Given the description of an element on the screen output the (x, y) to click on. 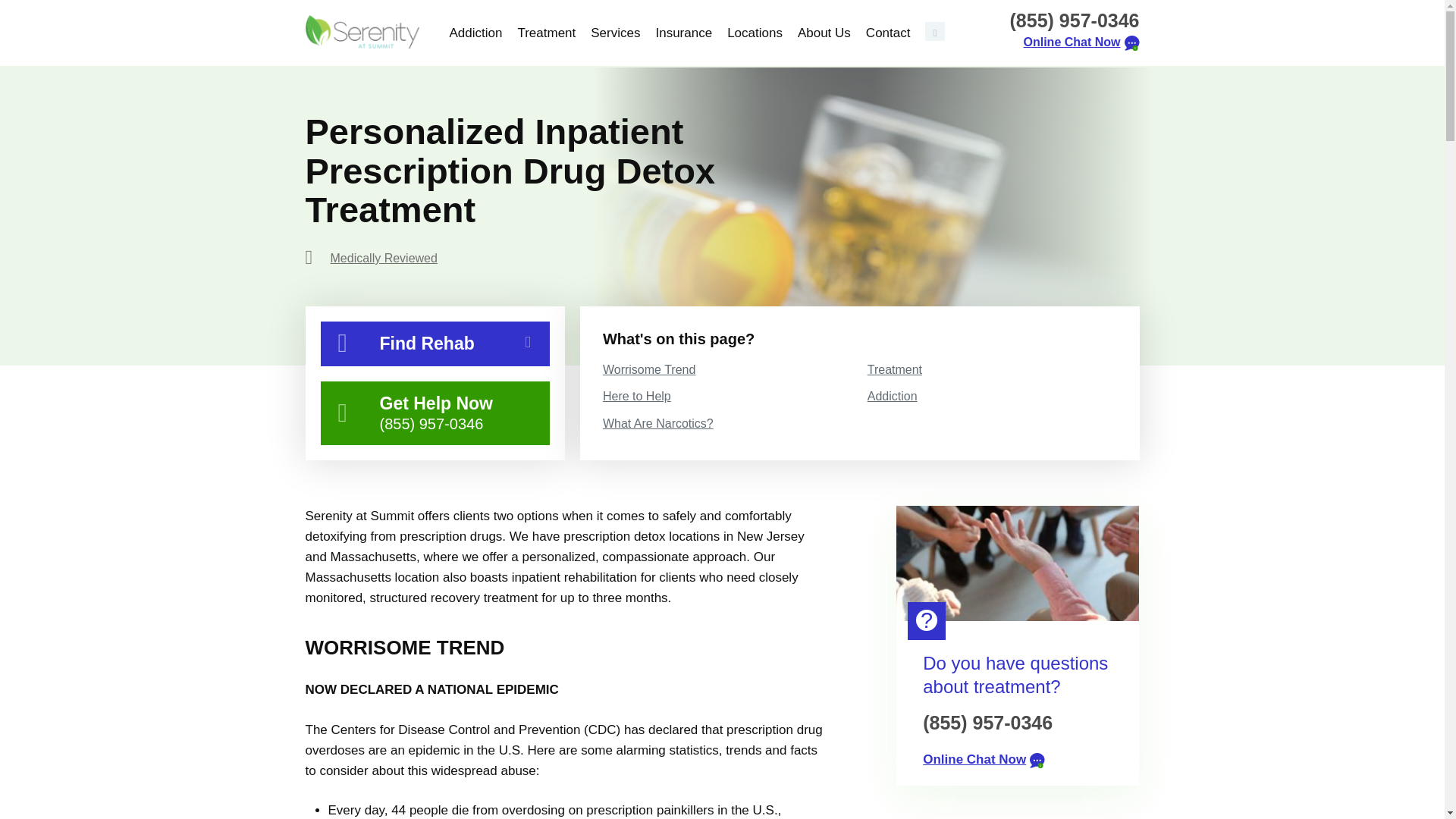
Treatment (546, 33)
Insurance (683, 33)
Addiction (478, 33)
Addiction (478, 33)
Services (615, 33)
Serenity at Summit (361, 31)
